Given the description of an element on the screen output the (x, y) to click on. 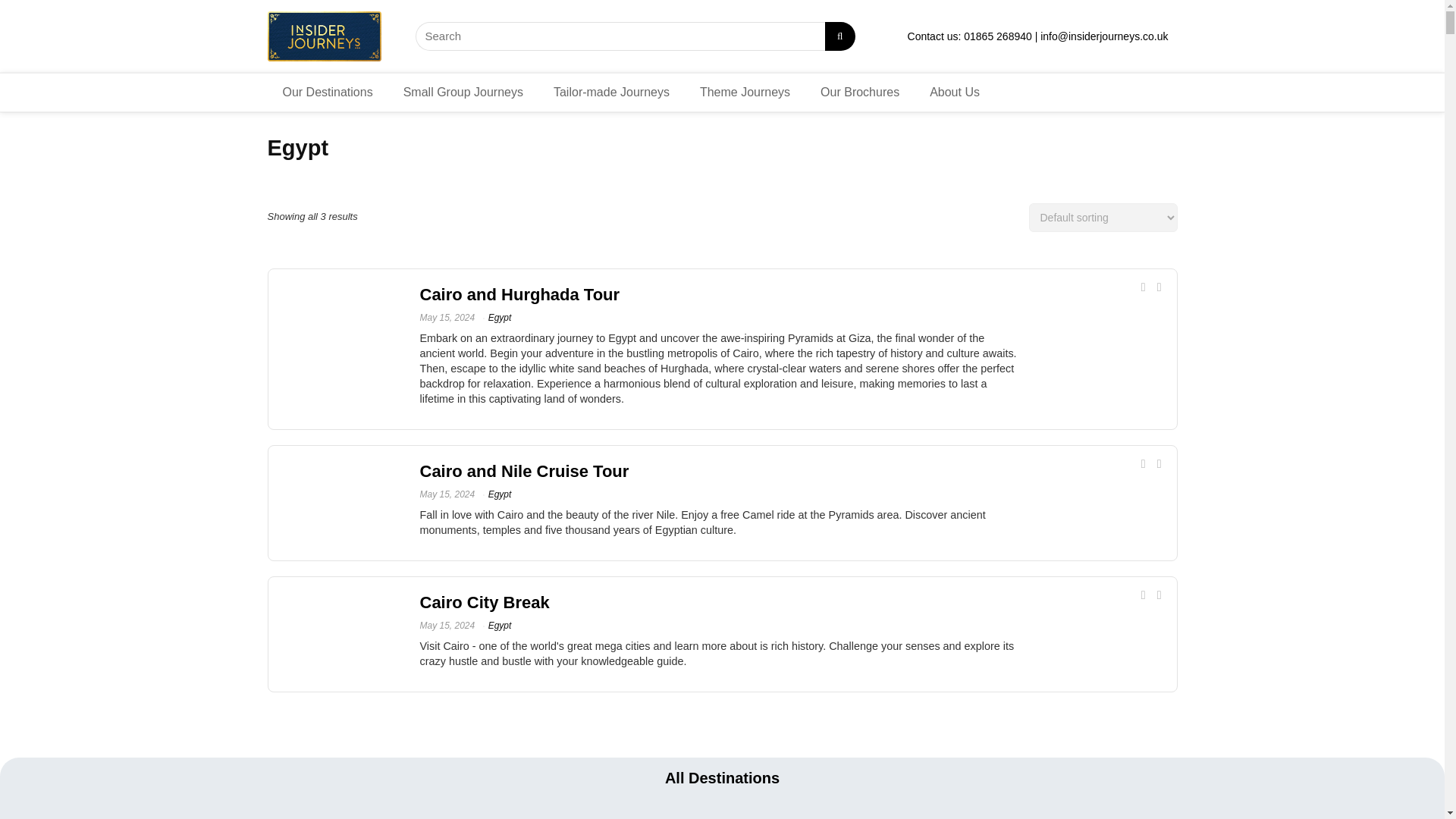
Egypt (499, 317)
Cairo and Nile Cruise Tour (524, 470)
Cairo City Break (485, 601)
Theme Journeys (744, 91)
Tailor-made Journeys (611, 91)
About Us (954, 91)
Cairo and Hurghada Tour (520, 294)
Egypt (499, 624)
Small Group Journeys (463, 91)
